Given the description of an element on the screen output the (x, y) to click on. 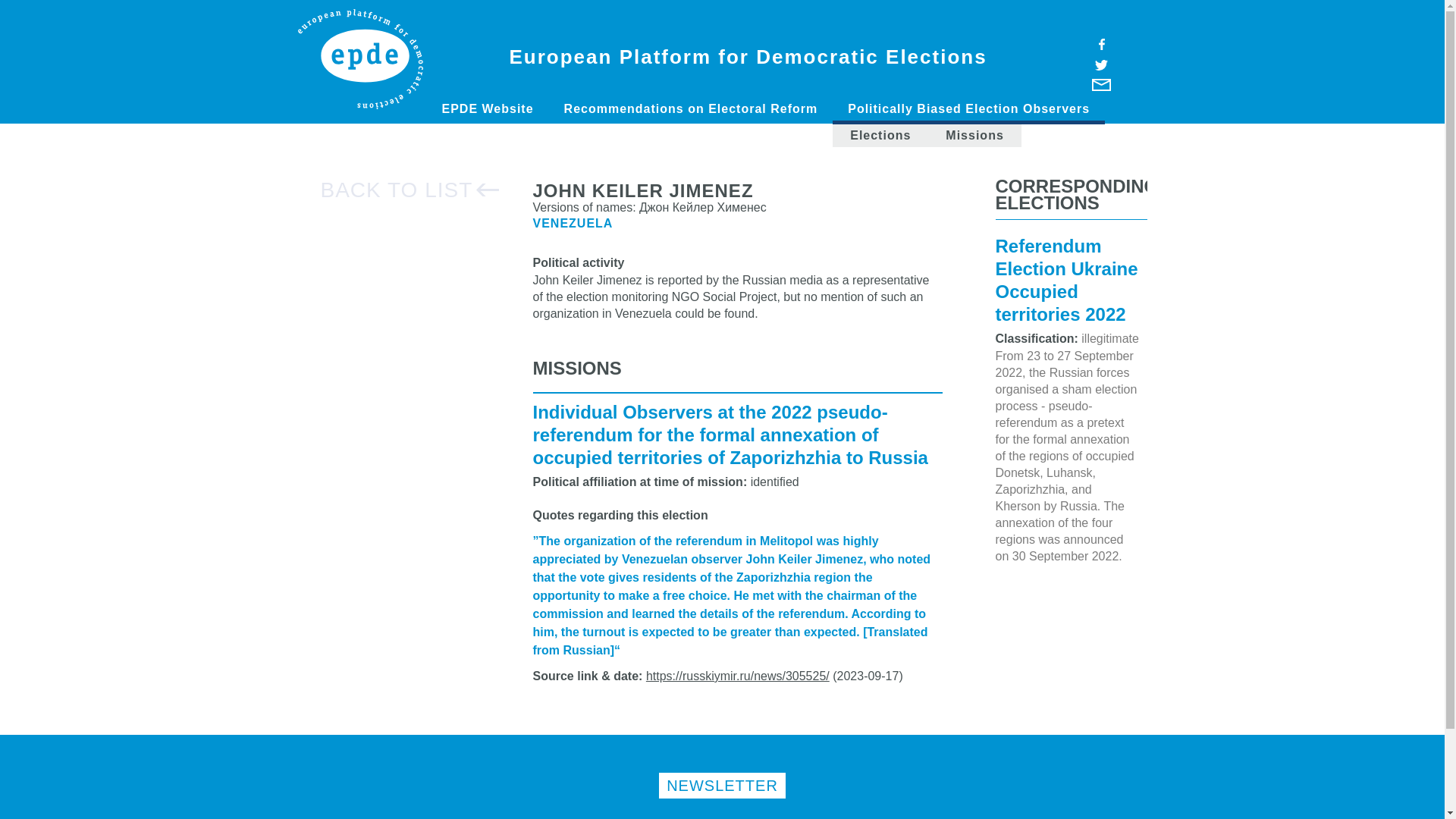
Politically Biased Election Observers (968, 110)
Referendum Election Ukraine Occupied territories 2022 (1065, 281)
Elections (880, 135)
Recommendations on Electoral Reform (690, 108)
BACK TO LIST (409, 189)
Missions (974, 135)
NEWSLETTER (722, 785)
EPDE Website (487, 108)
EPDE Website (487, 108)
Elections (880, 135)
Missions (974, 135)
Recommendations on Electoral Reform (690, 108)
